Given the description of an element on the screen output the (x, y) to click on. 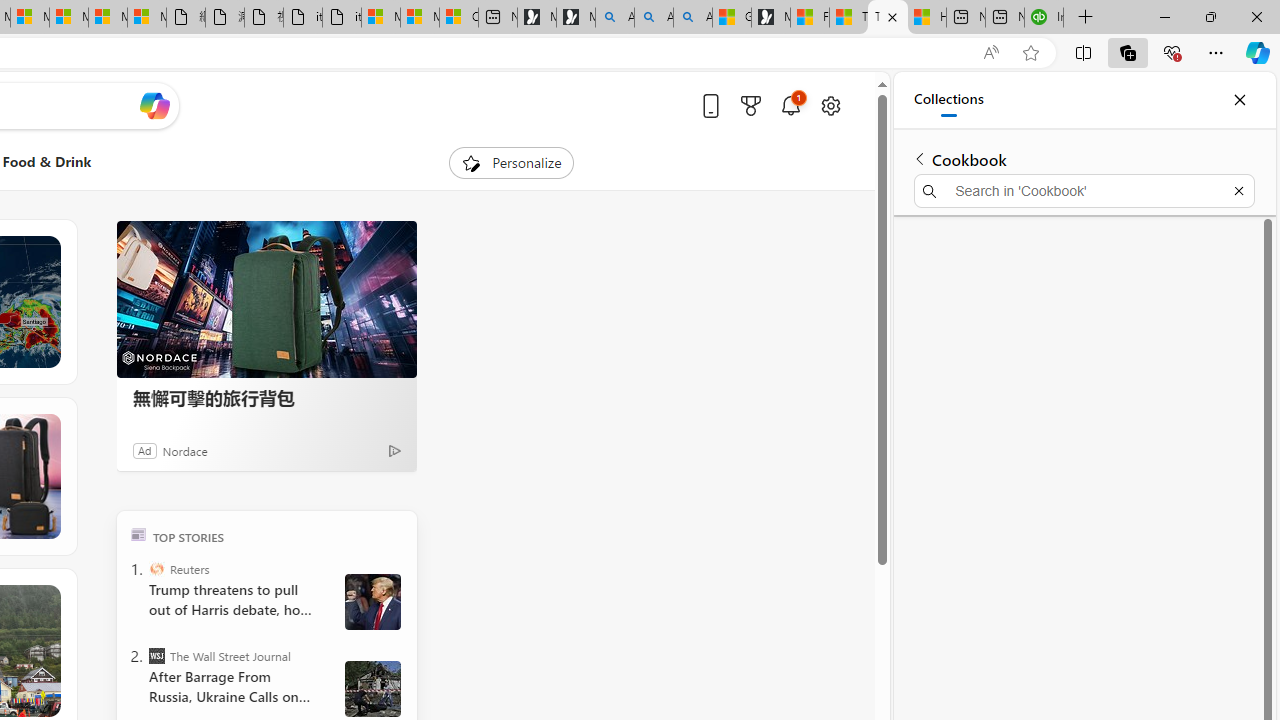
TOP (138, 534)
Search in 'Cookbook' (1084, 190)
How to Use a TV as a Computer Monitor (926, 17)
Exit search (1238, 190)
Consumer Health Data Privacy Policy (458, 17)
Intuit QuickBooks Online - Quickbooks (1044, 17)
